Given the description of an element on the screen output the (x, y) to click on. 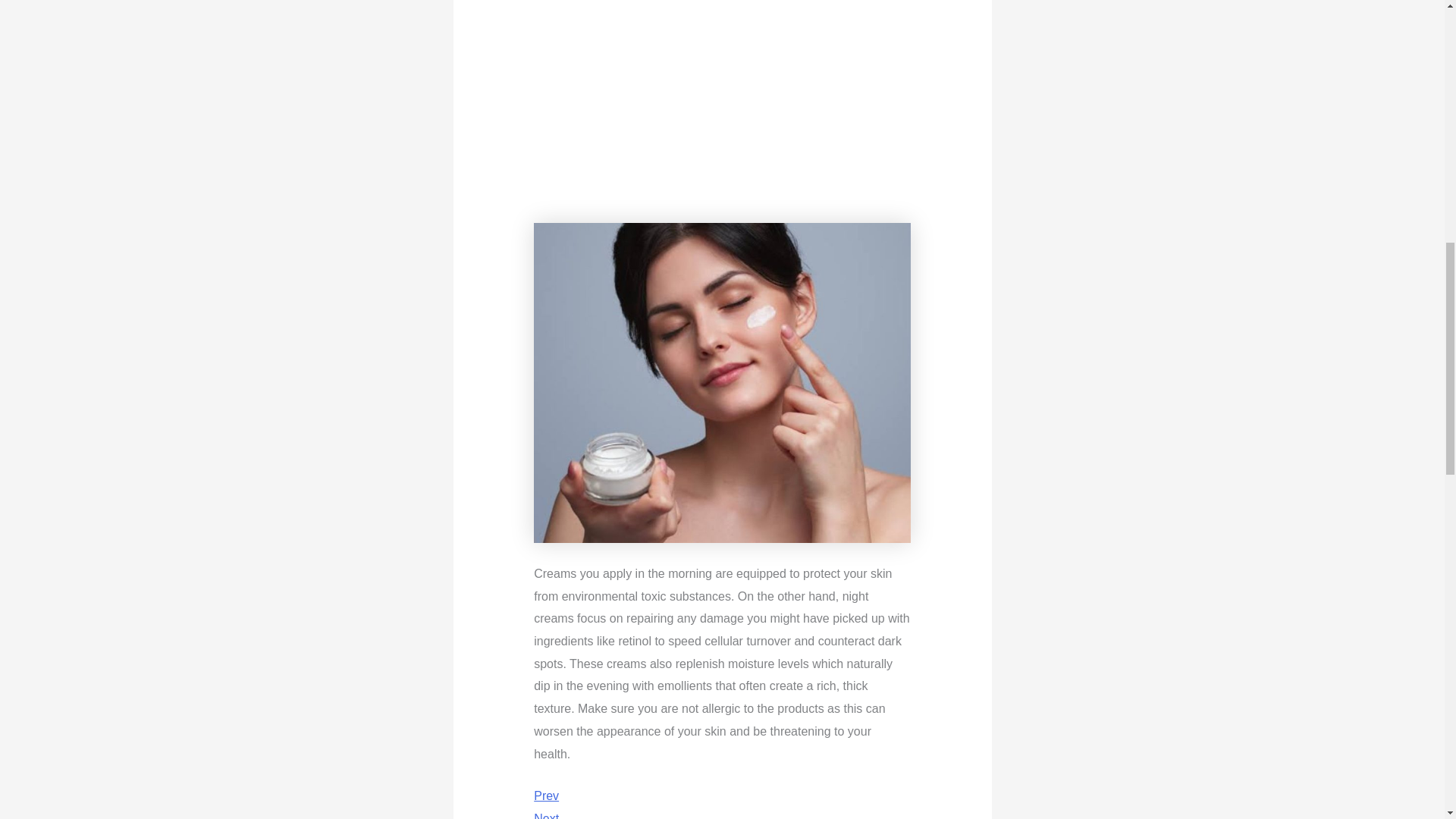
Next (546, 815)
Prev (546, 795)
Advertisement (772, 110)
